Given the description of an element on the screen output the (x, y) to click on. 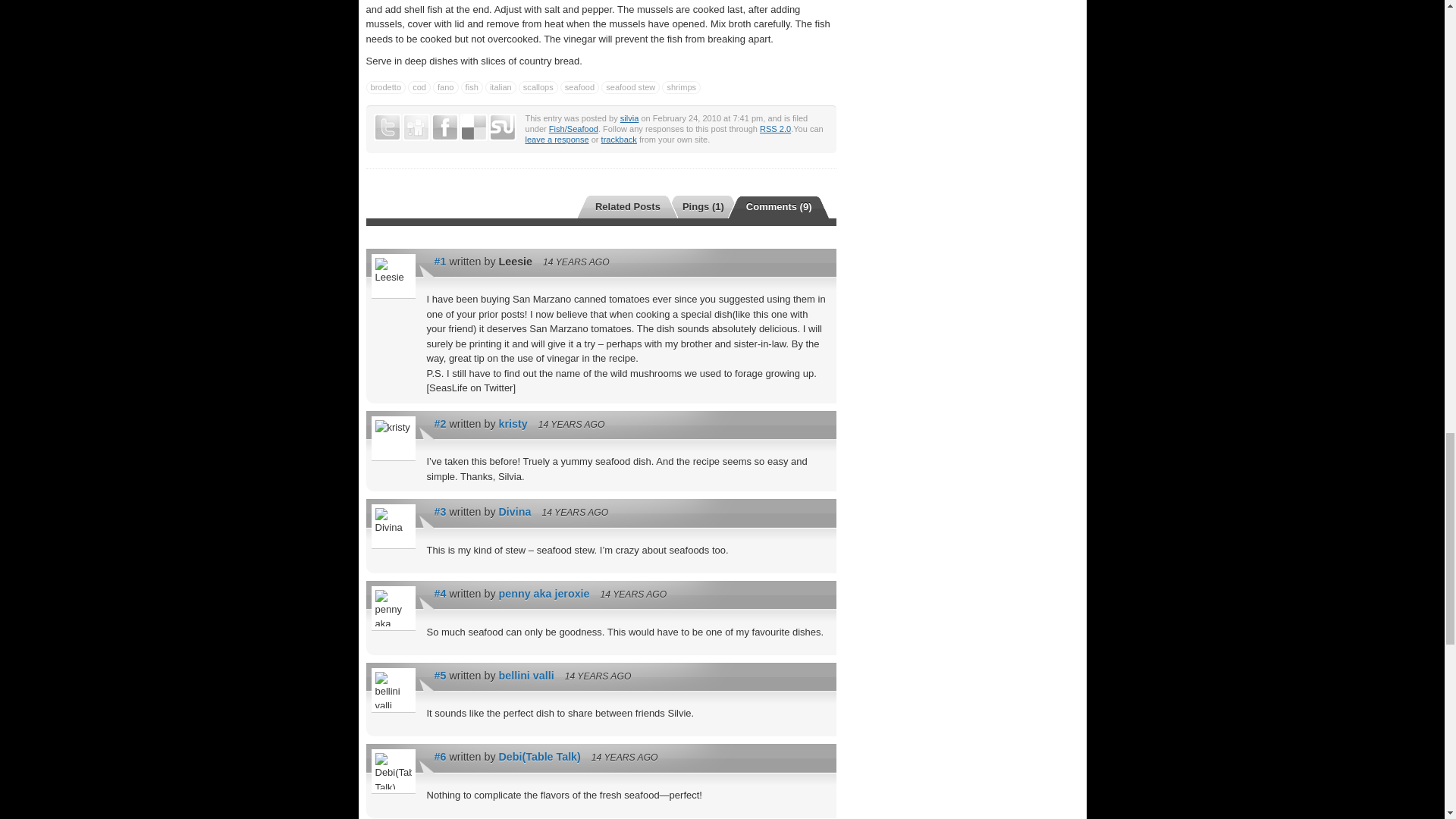
cod (418, 87)
silvia (629, 117)
RSS 2.0 (775, 128)
leave a response (556, 139)
scallops (537, 87)
seafood (579, 87)
italian (500, 87)
seafood stew (630, 87)
trackback (619, 139)
Share this post on Twitter (386, 127)
shrimps (681, 87)
kristy (513, 423)
Related Posts (619, 206)
brodetto (385, 87)
fish (472, 87)
